Given the description of an element on the screen output the (x, y) to click on. 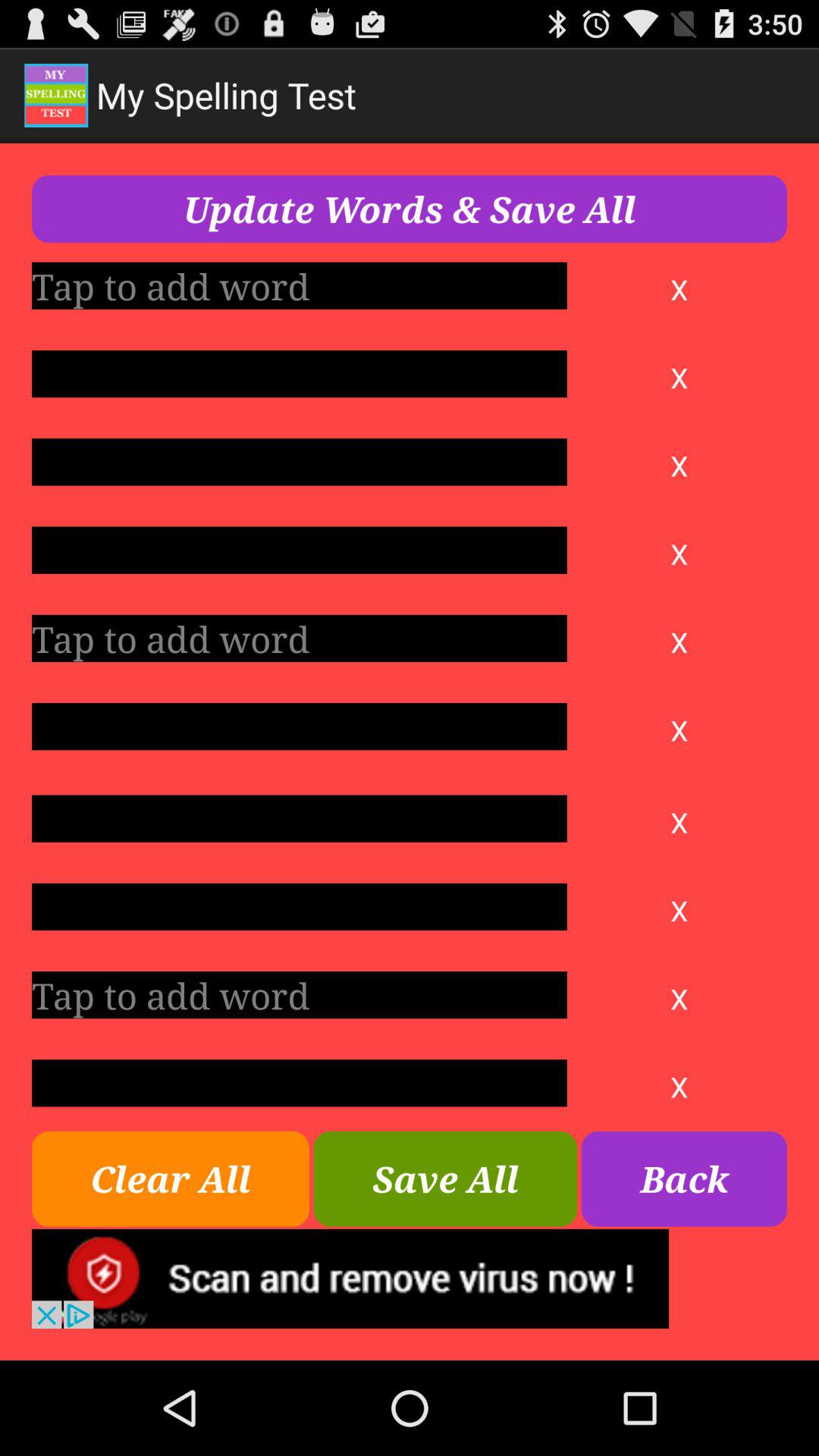
6th box down (299, 726)
